Given the description of an element on the screen output the (x, y) to click on. 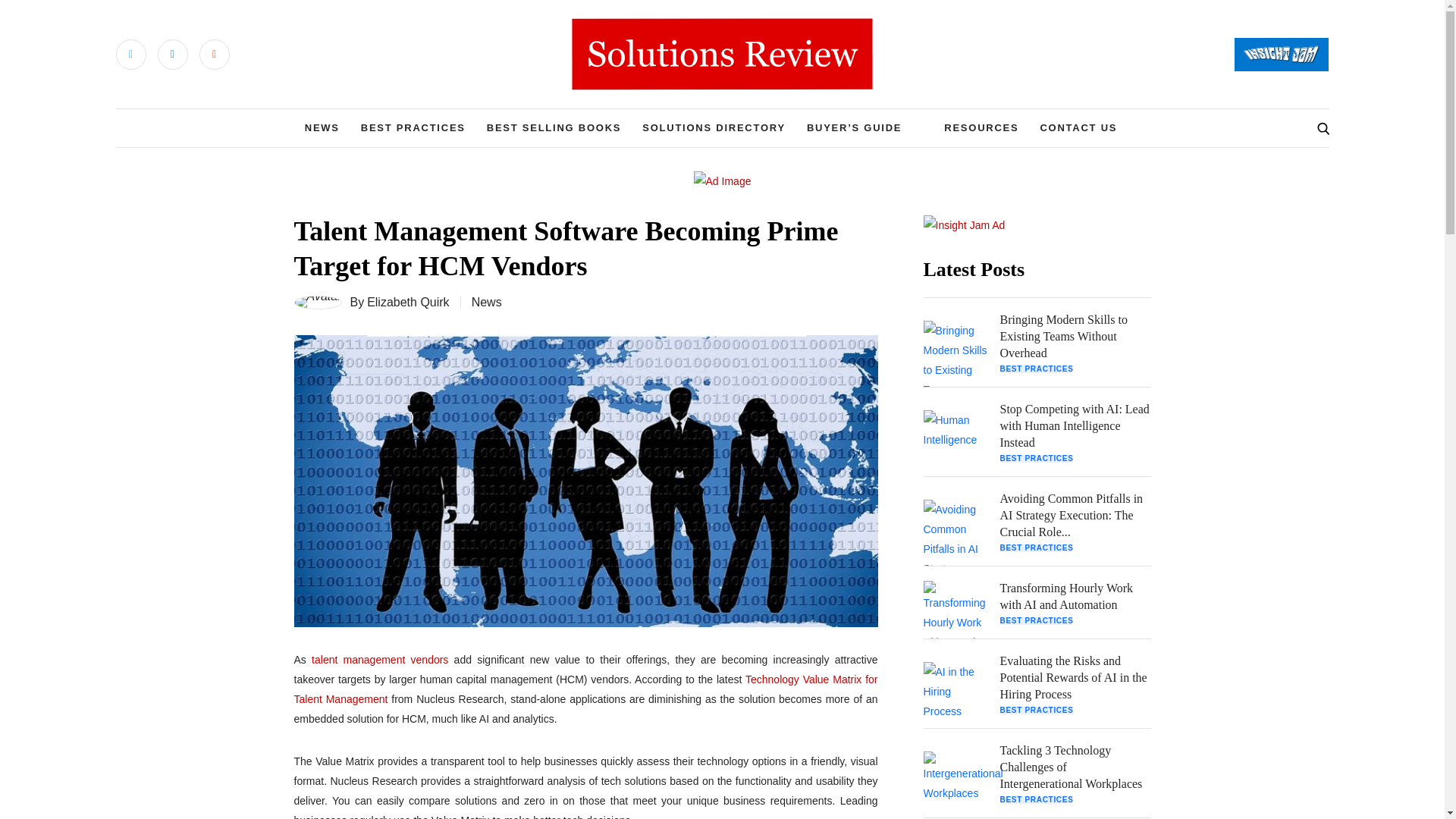
BEST PRACTICES (413, 127)
News (486, 301)
Elizabeth Quirk (407, 302)
Insight Jam Ad (964, 225)
Technology Value Matrix for Talent Management (585, 689)
NEWS (321, 127)
CONTACT US (1077, 127)
RESOURCES (980, 127)
talent management vendors (379, 659)
BEST SELLING BOOKS (553, 127)
